Given the description of an element on the screen output the (x, y) to click on. 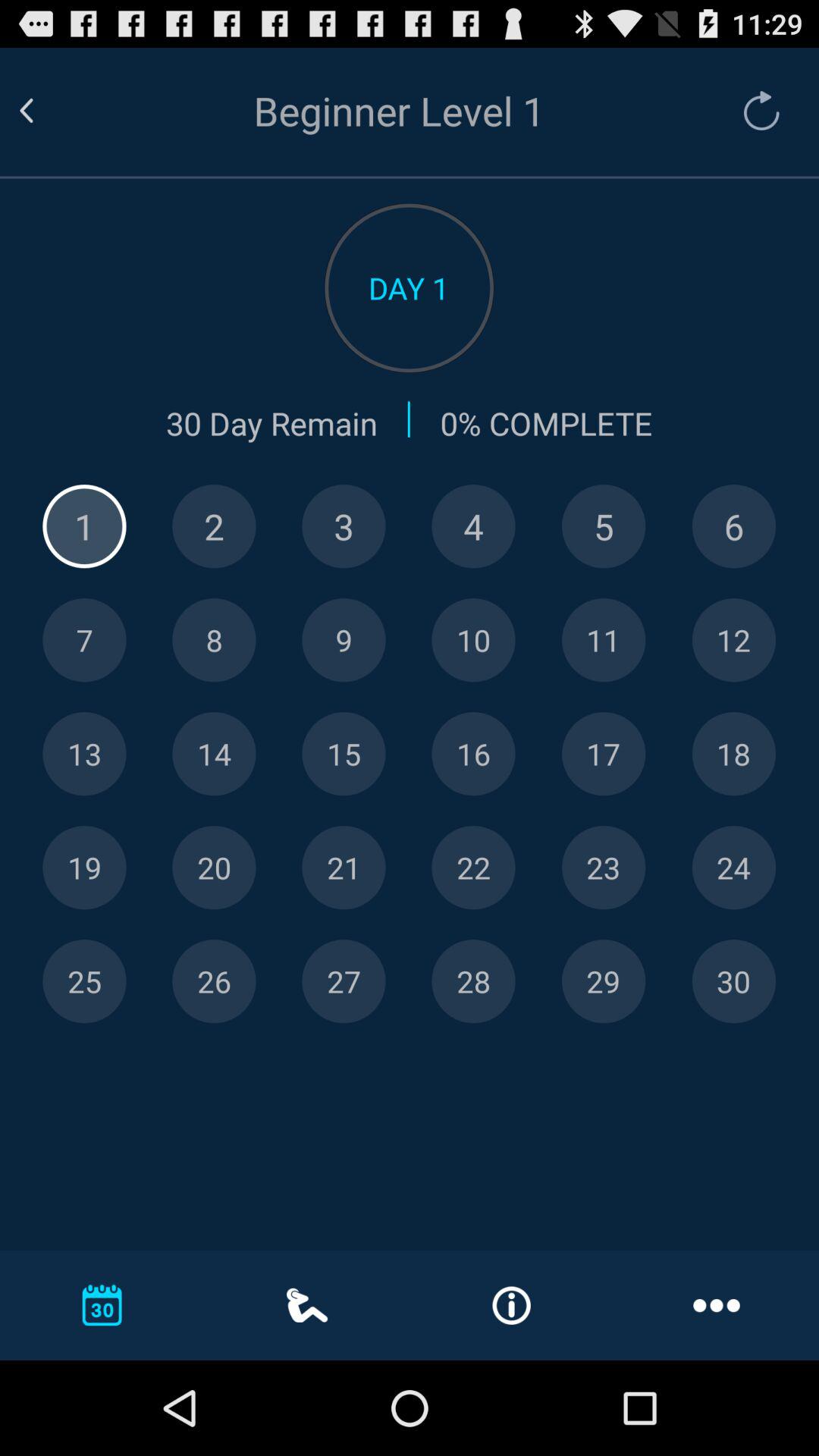
shown number (84, 753)
